Given the description of an element on the screen output the (x, y) to click on. 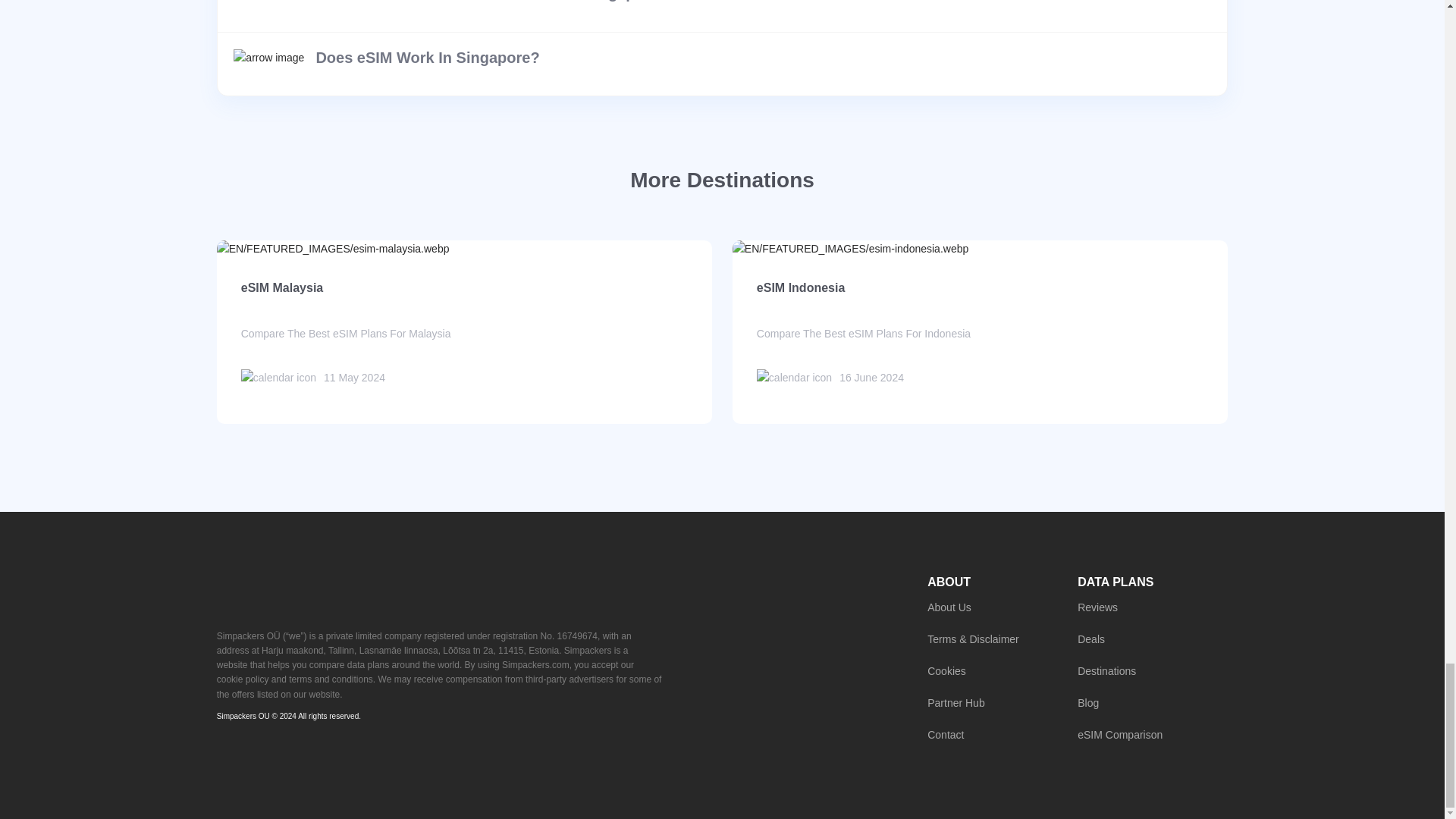
Contact (1002, 734)
About Us (1002, 606)
Partner Hub (1002, 702)
Reviews (1152, 606)
Cookies (1002, 670)
Deals (1152, 638)
eSIM Comparison (1152, 734)
Blog (1152, 702)
